Given the description of an element on the screen output the (x, y) to click on. 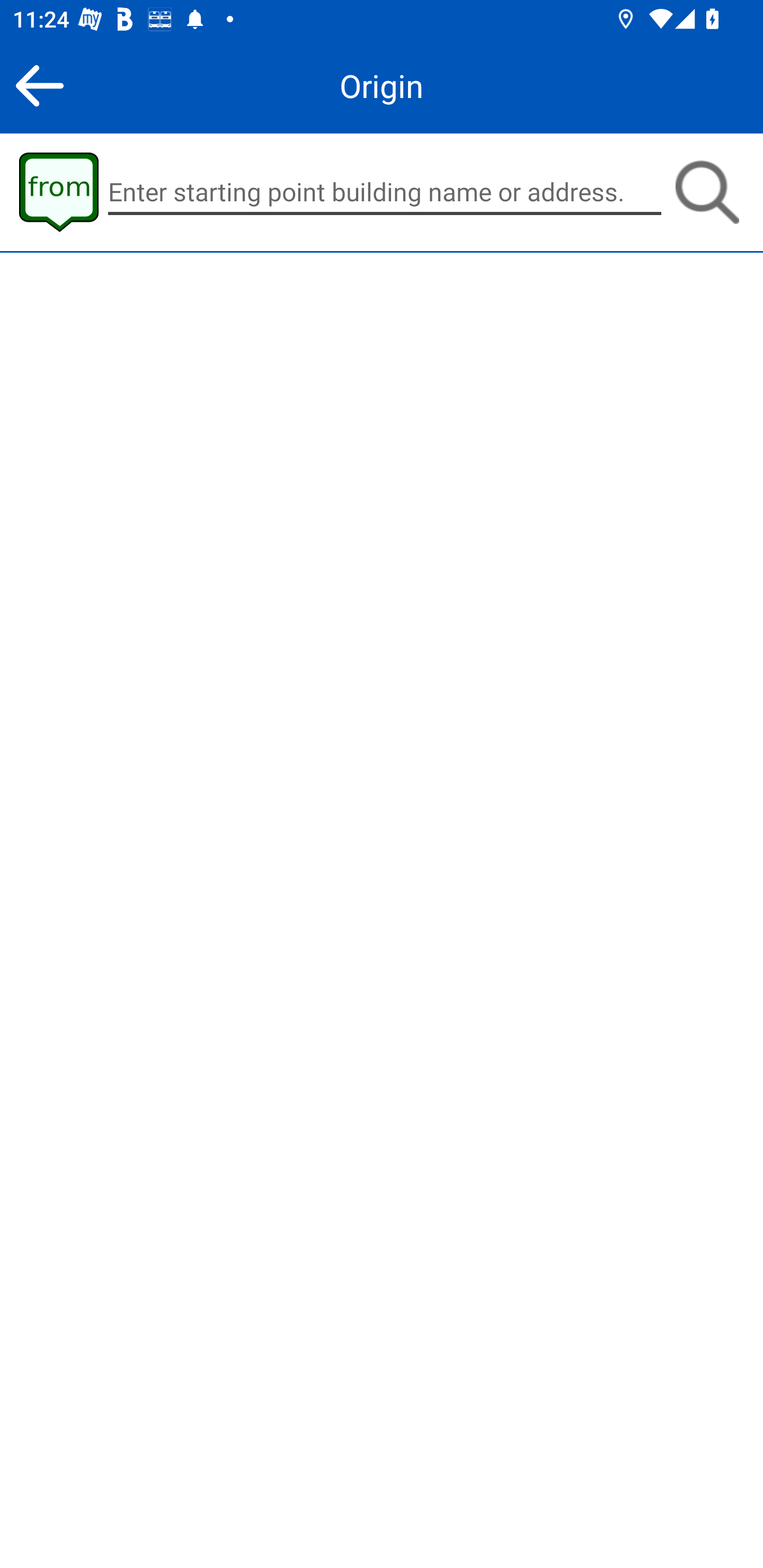
Back (39, 85)
Enter starting point building name or address. (384, 191)
Search (707, 191)
